Given the description of an element on the screen output the (x, y) to click on. 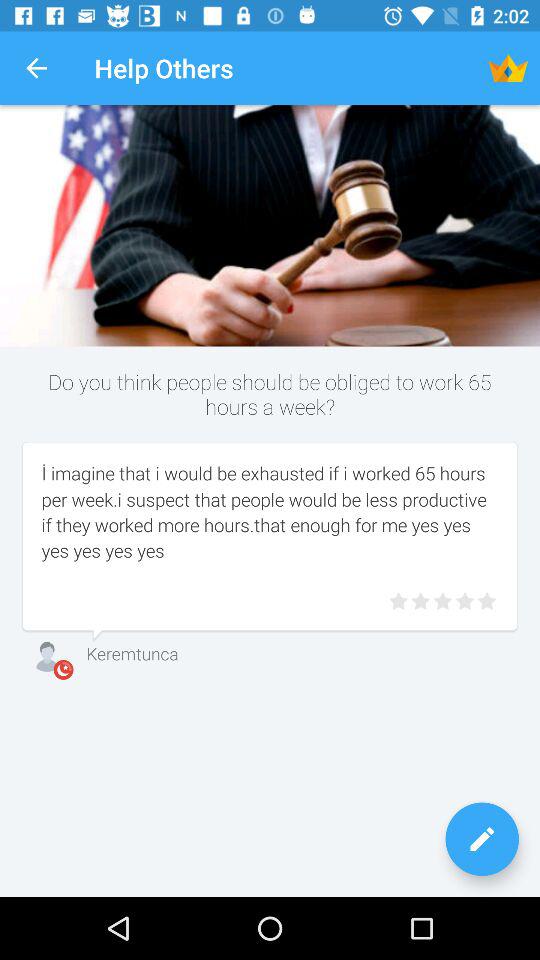
select item to the right of help others app (508, 67)
